Given the description of an element on the screen output the (x, y) to click on. 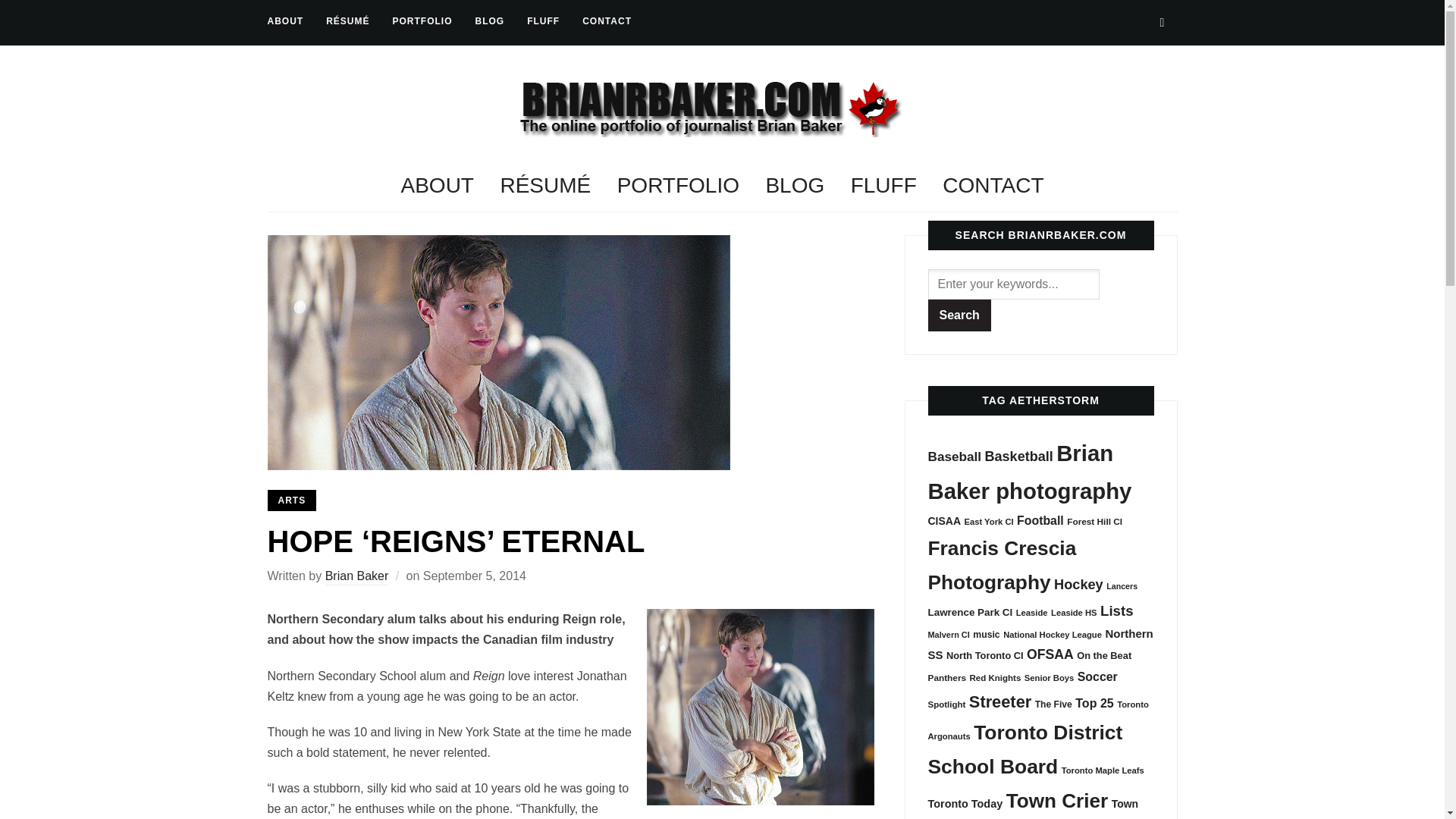
CONTACT (606, 21)
Posts by Brian Baker (356, 577)
Search (1161, 22)
ABOUT (284, 21)
Search (959, 315)
FLUFF (543, 21)
Search (959, 315)
BLOG (490, 21)
PORTFOLIO (422, 21)
